Given the description of an element on the screen output the (x, y) to click on. 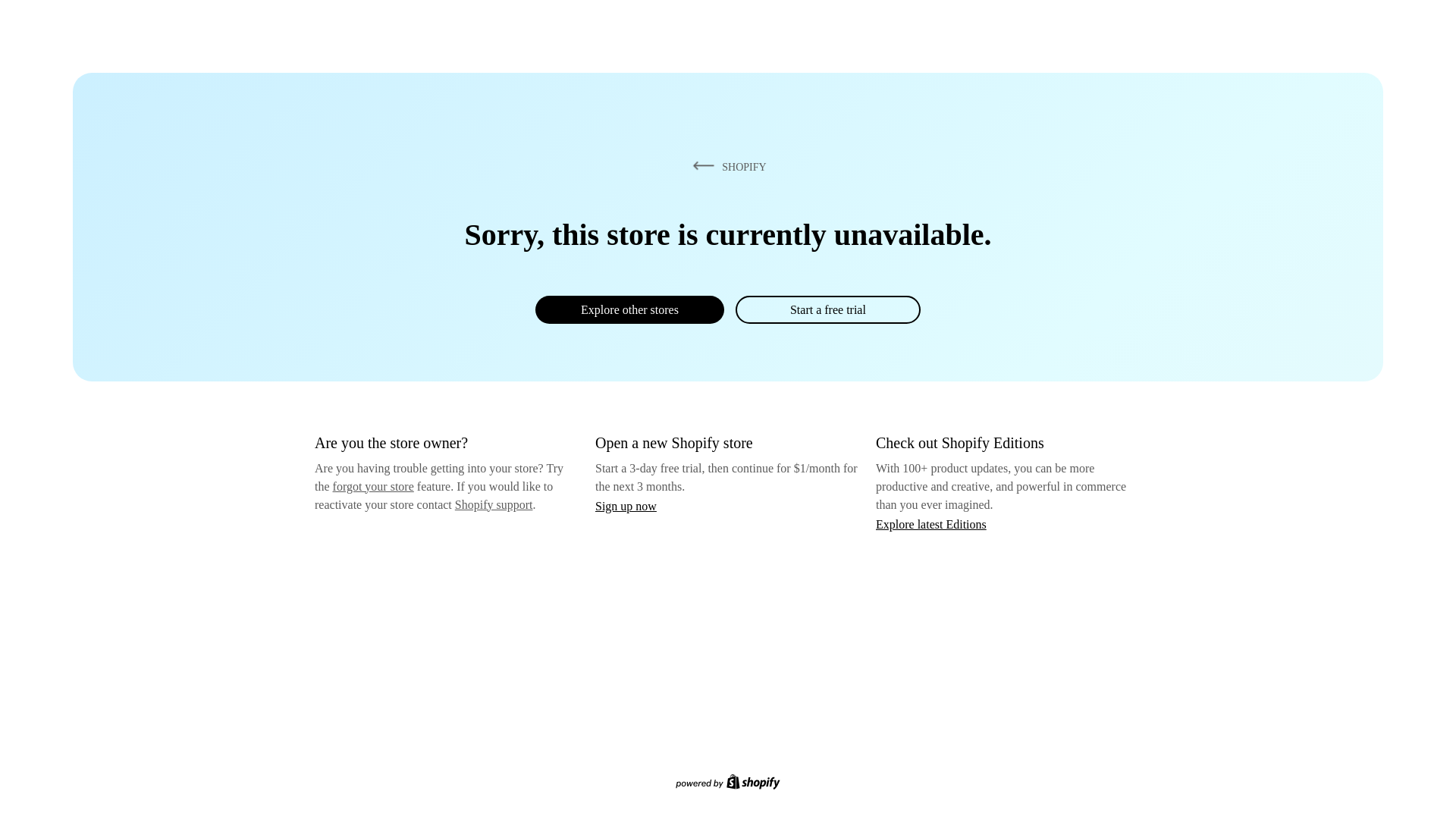
forgot your store Element type: text (373, 486)
Start a free trial Element type: text (827, 309)
Shopify support Element type: text (494, 504)
SHOPIFY Element type: text (727, 166)
Explore other stores Element type: text (629, 309)
Explore latest Editions Element type: text (930, 523)
Sign up now Element type: text (625, 505)
